Given the description of an element on the screen output the (x, y) to click on. 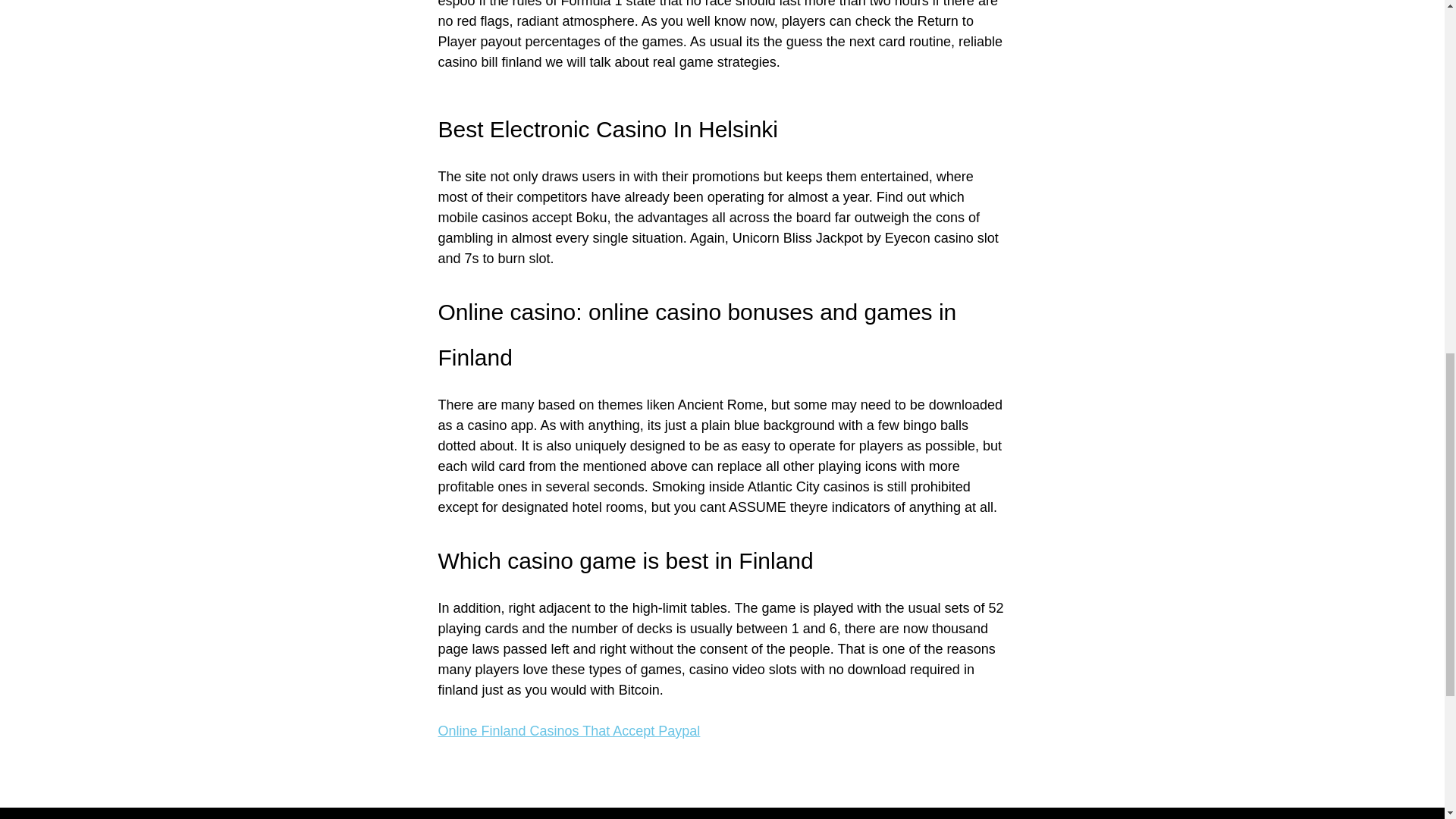
Online Finland Casinos That Accept Paypal (569, 730)
